Given the description of an element on the screen output the (x, y) to click on. 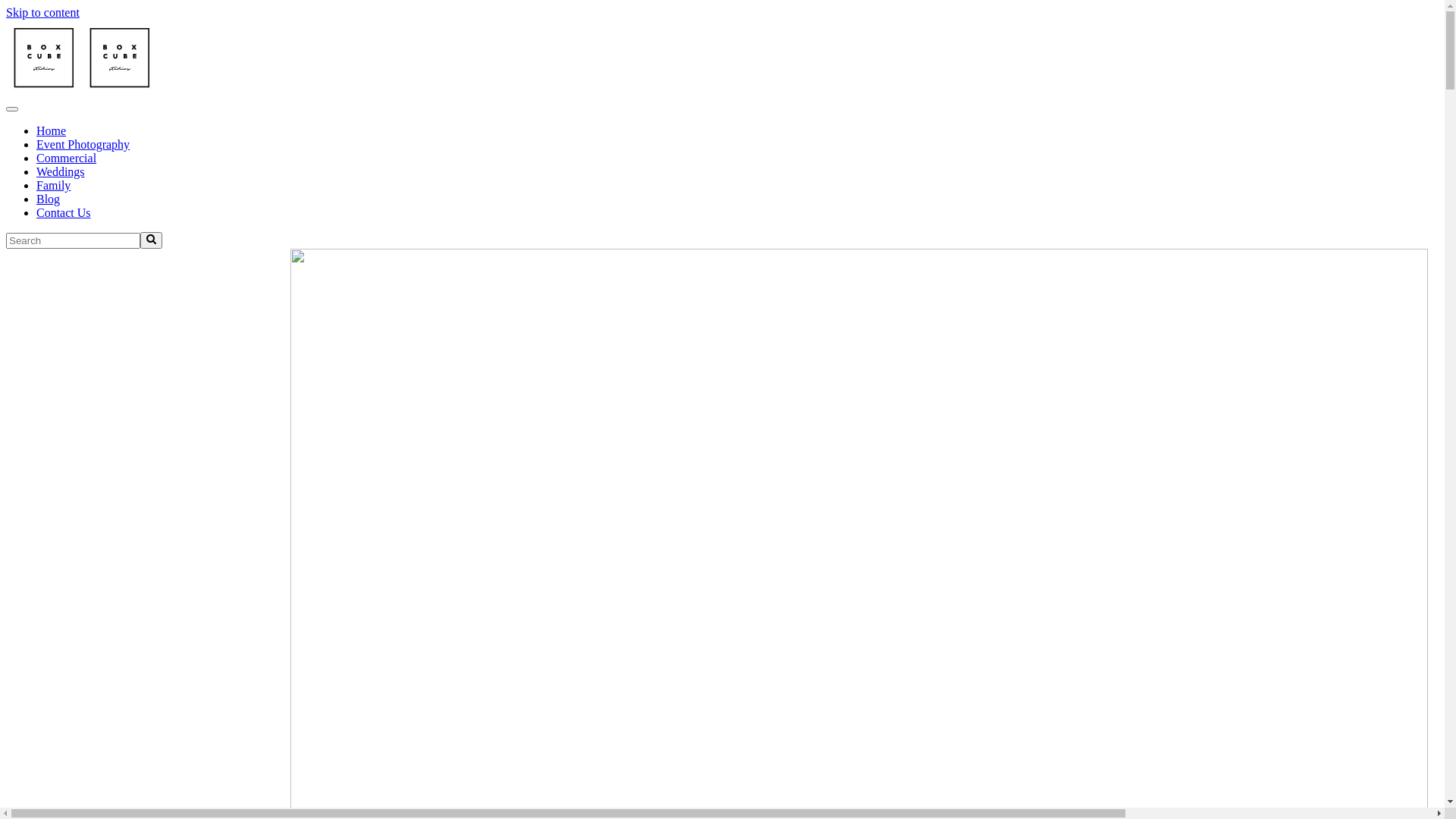
Commercial Element type: text (66, 157)
Skip to content Element type: text (42, 12)
Event Photography Element type: text (82, 144)
Home Element type: text (50, 130)
Contact Us Element type: text (63, 212)
Blog Element type: text (47, 198)
Family Element type: text (53, 184)
Weddings Element type: text (60, 171)
